Given the description of an element on the screen output the (x, y) to click on. 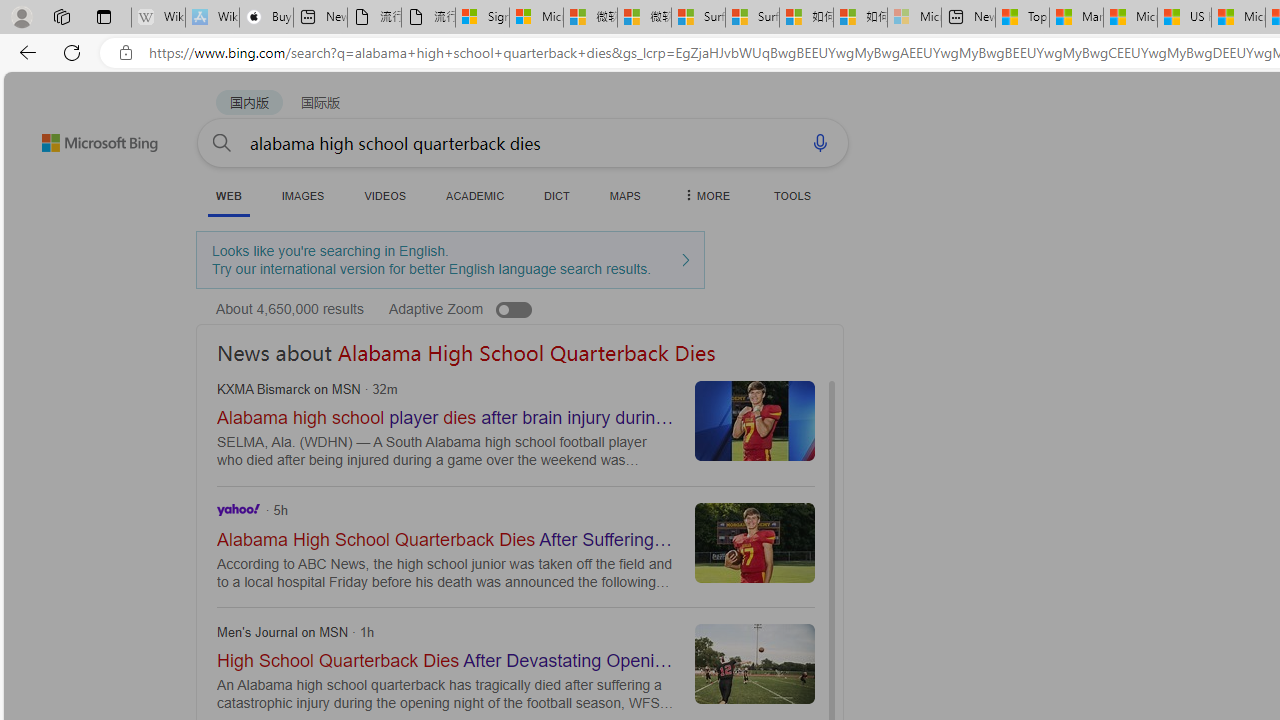
Microsoft Services Agreement (536, 17)
